Given the description of an element on the screen output the (x, y) to click on. 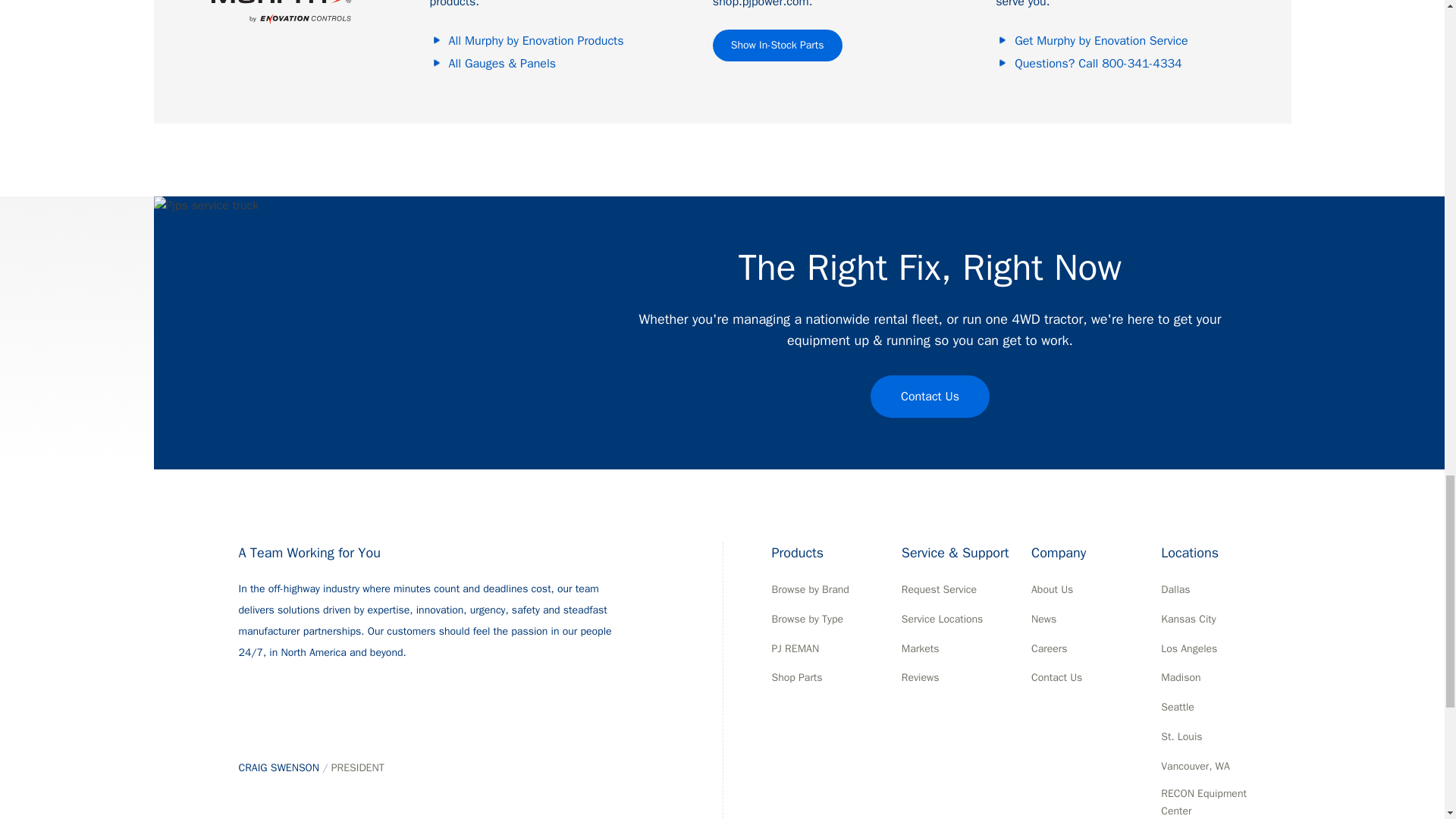
PJ REMAN (795, 649)
Contact Us (930, 396)
Questions? Call 800-341-4334 (1116, 63)
All Murphy by Enovation Products (550, 40)
Shop Parts (796, 678)
Get Murphy by Enovation Service (1116, 40)
Reviews (920, 678)
Visit Murphy by Enovation Website (282, 13)
About Us (1051, 589)
Service Locations (942, 619)
Markets (920, 649)
Request Service (938, 589)
Browse by Brand (809, 589)
Show In-Stock Parts (778, 45)
Browse by Type (807, 619)
